Given the description of an element on the screen output the (x, y) to click on. 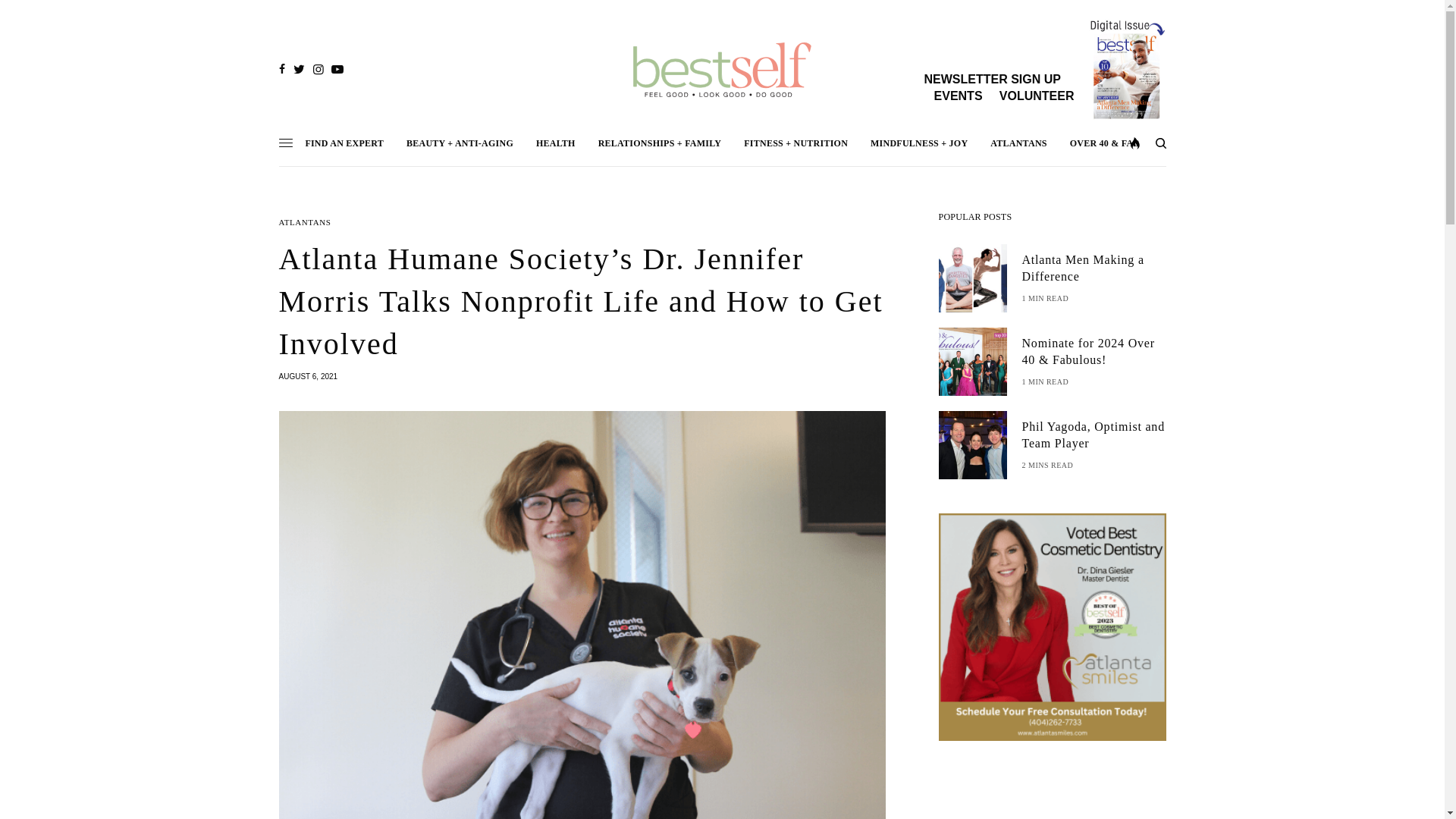
NEWSLETTER SIGN UP (991, 78)
ATLANTANS (305, 222)
Best Self Atlanta (721, 69)
ATLANTANS (1018, 143)
EVENTS (958, 95)
Phil Yagoda, Optimist and Team Player (1094, 435)
VOLUNTEER (1036, 95)
FIND AN EXPERT (344, 143)
Atlanta Men Making a Difference (1094, 268)
